Given the description of an element on the screen output the (x, y) to click on. 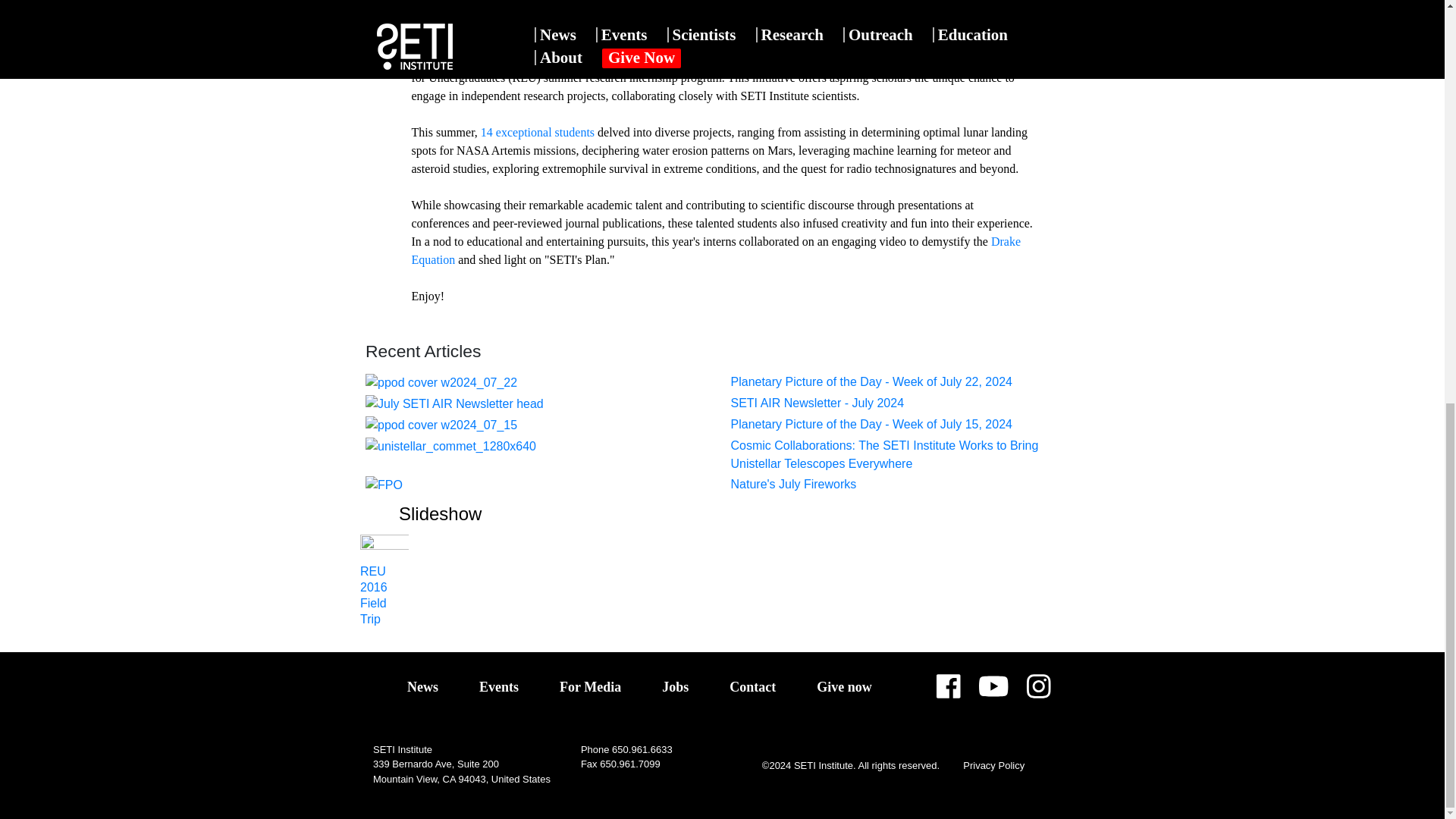
Find us on Youtube (993, 692)
News (422, 686)
Follow us on Facebook (948, 692)
Planetary Picture of the Day - Week of July 22, 2024 (870, 381)
Nature's July Fireworks (793, 483)
Video iframe (721, 18)
SETI AIR Newsletter - July 2024 (817, 402)
14 exceptional students (538, 132)
Drake Equation (715, 250)
Planetary Picture of the Day - Week of July 15, 2024 (870, 423)
Jobs (675, 686)
For Media (590, 686)
Events (498, 686)
